Given the description of an element on the screen output the (x, y) to click on. 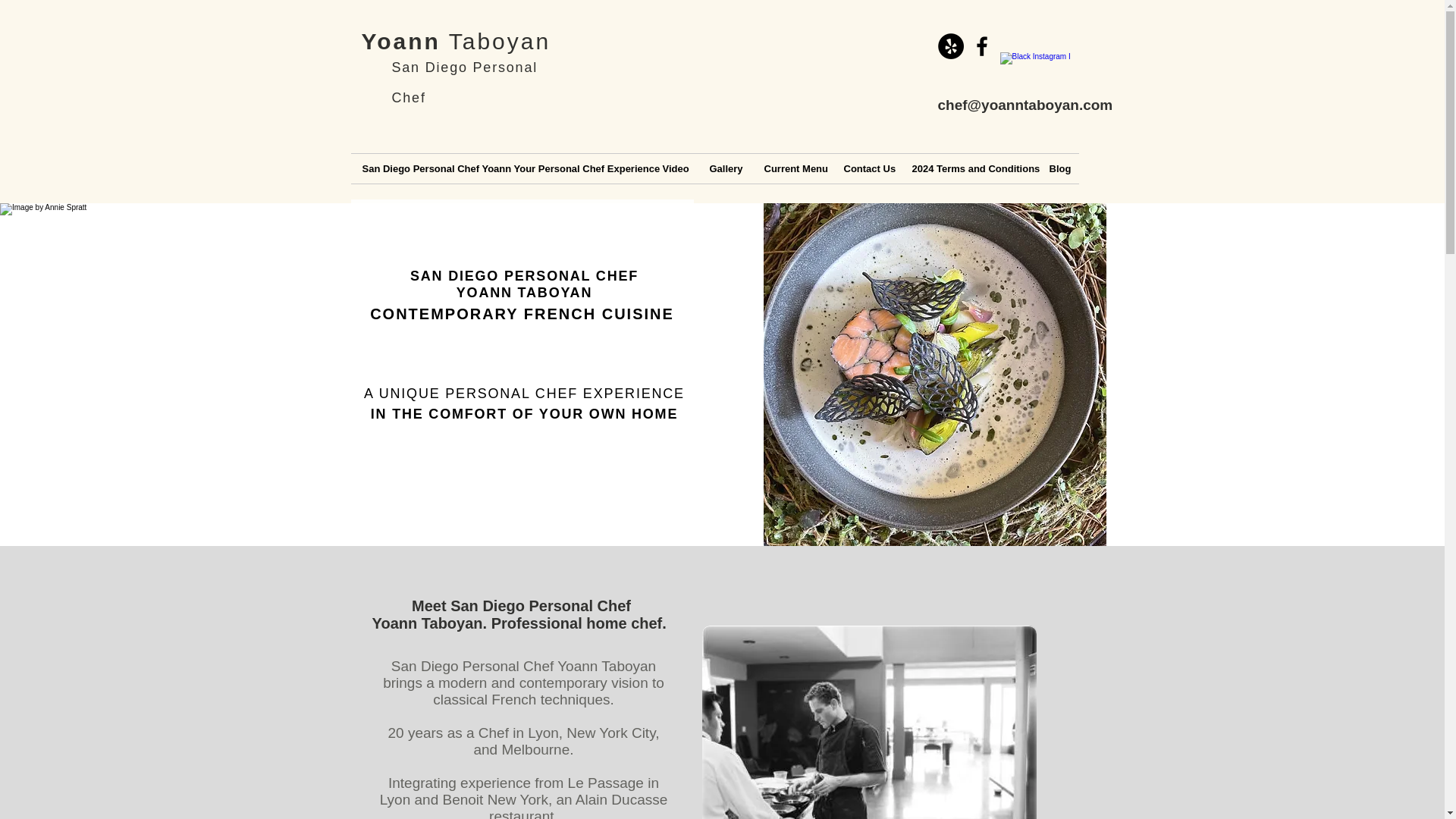
Gallery (724, 168)
Your Personal Chef Experience (576, 168)
Video (673, 168)
Contact Us (866, 168)
Current Menu (791, 168)
Yoann Taboyan (455, 41)
Yoann Taboyan. Professional home chef.  (521, 623)
San Diego Personal Chef Yoann (426, 168)
Personal Chef (464, 82)
Meet San Diego Personal Chef (521, 605)
2024 Terms and Conditions (969, 168)
Blog (1057, 168)
